Given the description of an element on the screen output the (x, y) to click on. 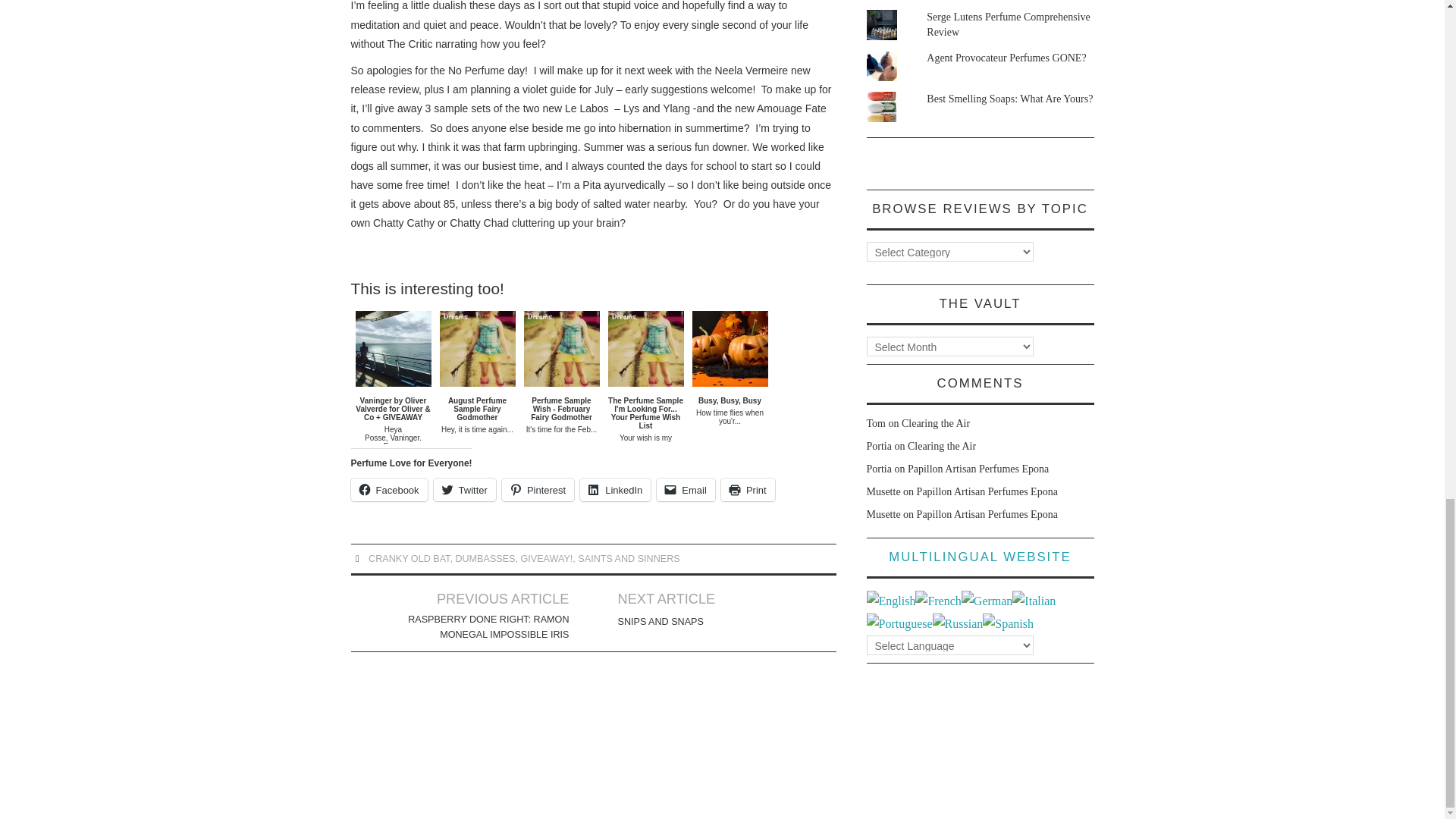
Facebook (388, 489)
RASPBERRY DONE RIGHT: RAMON MONEGAL IMPOSSIBLE IRIS (483, 626)
Click to print (747, 489)
Click to share on Twitter (464, 489)
SAINTS AND SINNERS (628, 558)
Click to share on Pinterest (537, 489)
Twitter (464, 489)
Pinterest (537, 489)
Print (747, 489)
Click to share on LinkedIn (614, 489)
